Given the description of an element on the screen output the (x, y) to click on. 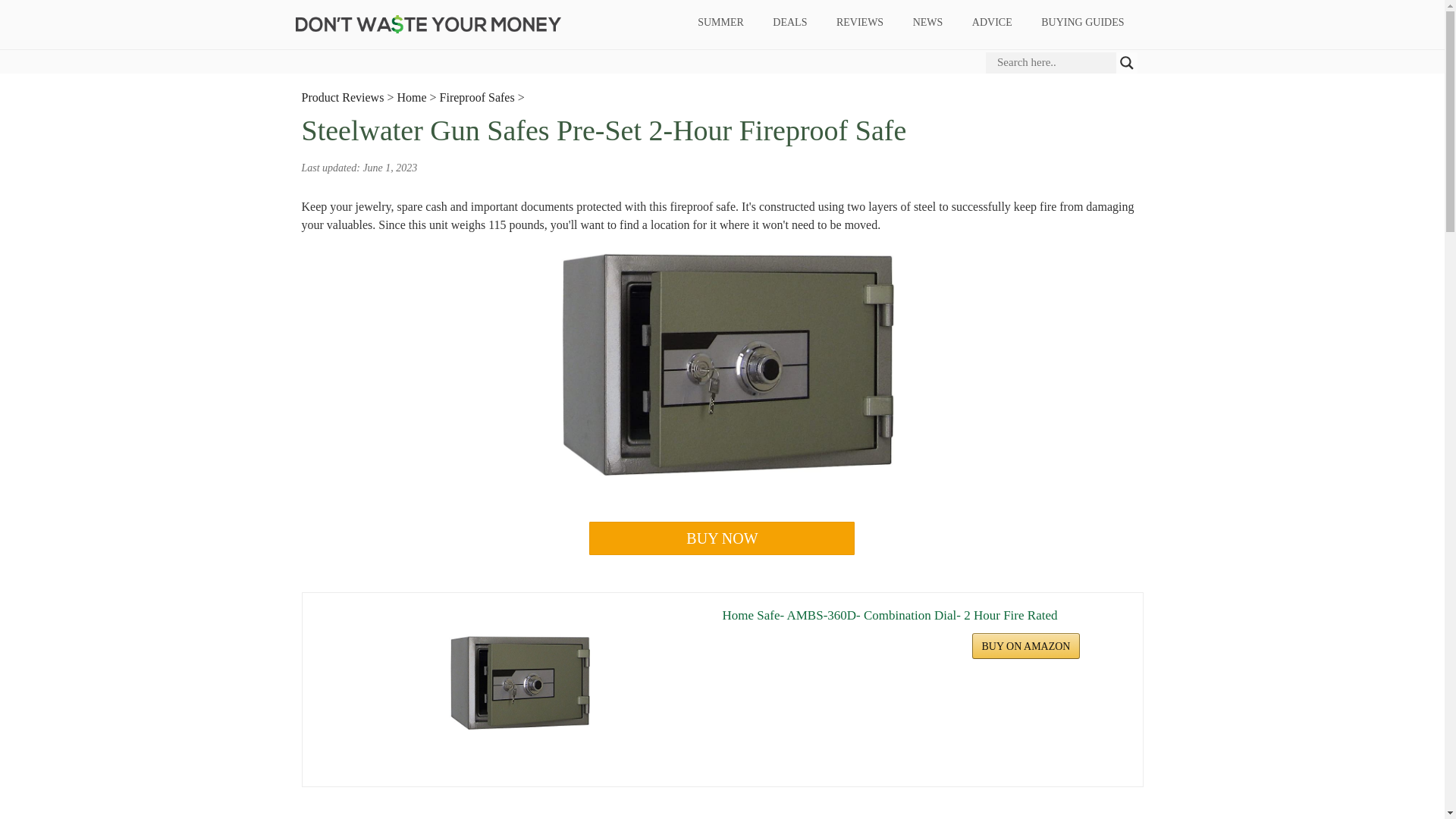
BUY NOW (721, 538)
BUY ON AMAZON (1026, 646)
REVIEWS (859, 22)
BUYING GUIDES (1082, 22)
SUMMER (720, 22)
Fireproof Safes (477, 97)
NEWS (927, 22)
Product Reviews (342, 97)
BUY ON AMAZON (1026, 646)
Home Safe- AMBS-360D- Combination Dial- 2 Hour Fire Rated (519, 684)
Home (411, 97)
Home Safe- AMBS-360D- Combination Dial- 2 Hour Fire Rated (924, 615)
DEALS (790, 22)
ADVICE (991, 22)
